Given the description of an element on the screen output the (x, y) to click on. 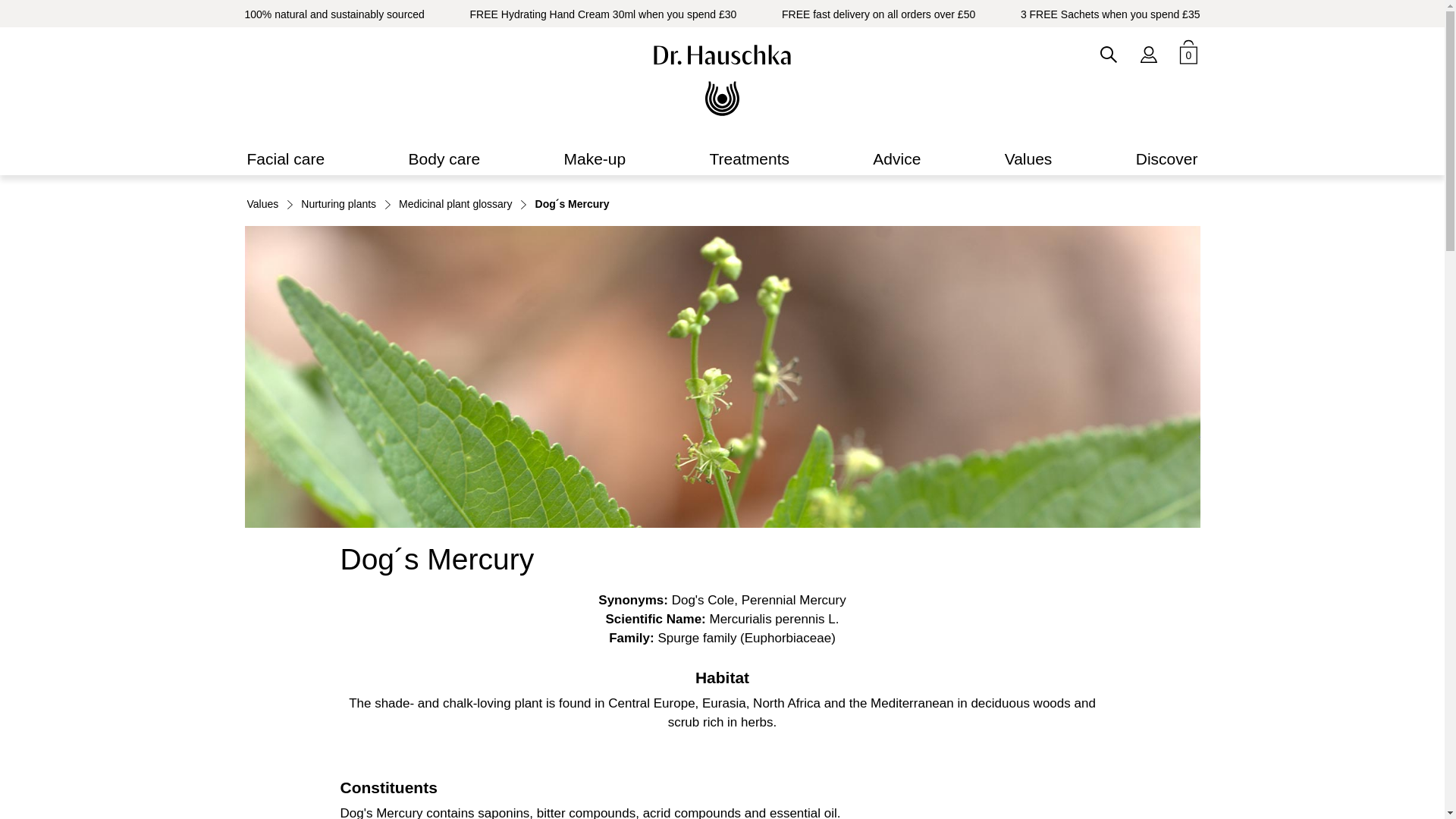
Discover (1166, 159)
Values (1028, 159)
Advice (896, 159)
Treatments (749, 159)
Body care (444, 159)
Values (1028, 159)
Body care (444, 159)
Advice (896, 159)
Facial care (285, 159)
